Given the description of an element on the screen output the (x, y) to click on. 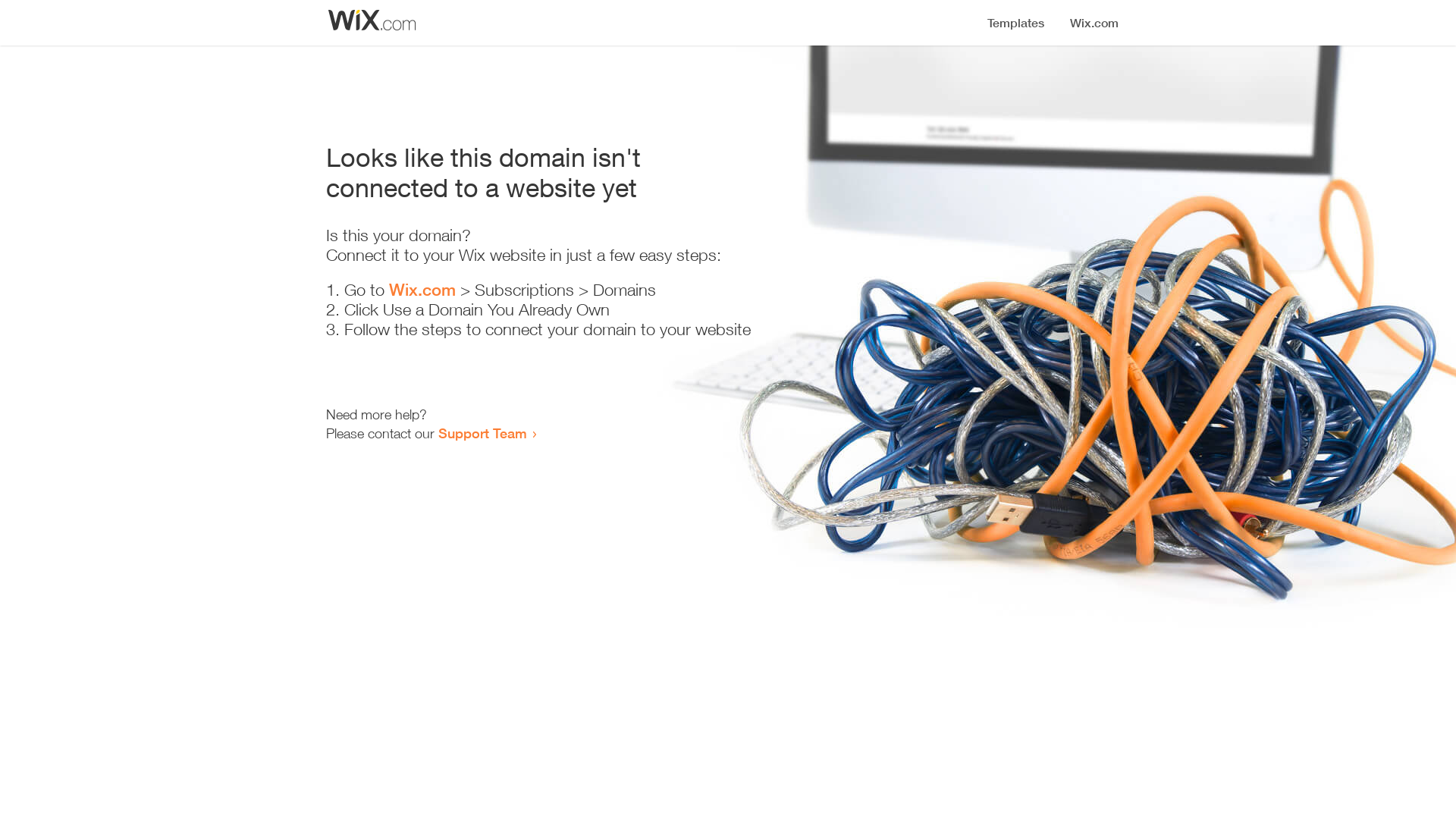
Wix.com Element type: text (422, 289)
Support Team Element type: text (482, 432)
